Given the description of an element on the screen output the (x, y) to click on. 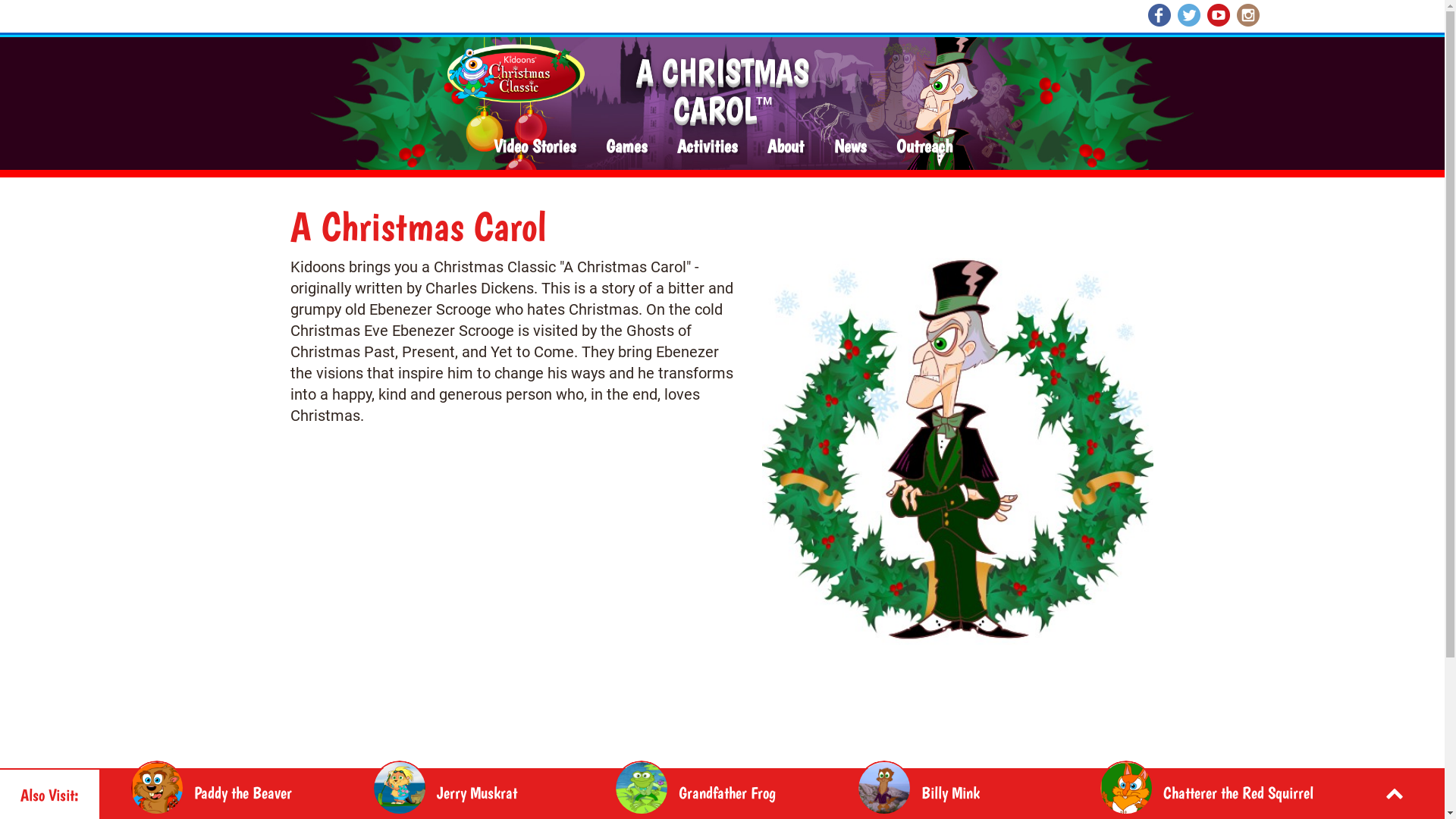
Grandfather Frog Element type: text (735, 792)
About Element type: text (785, 146)
Chatterer the Red Squirrel Element type: text (1219, 792)
Games Element type: text (626, 146)
Video Stories Element type: text (534, 146)
Outreach Element type: text (924, 146)
Paddy the Beaver Element type: text (250, 792)
Jerry Muskrat Element type: text (493, 792)
Billy Mink Element type: text (977, 792)
Activities Element type: text (706, 146)
News Element type: text (849, 146)
